Given the description of an element on the screen output the (x, y) to click on. 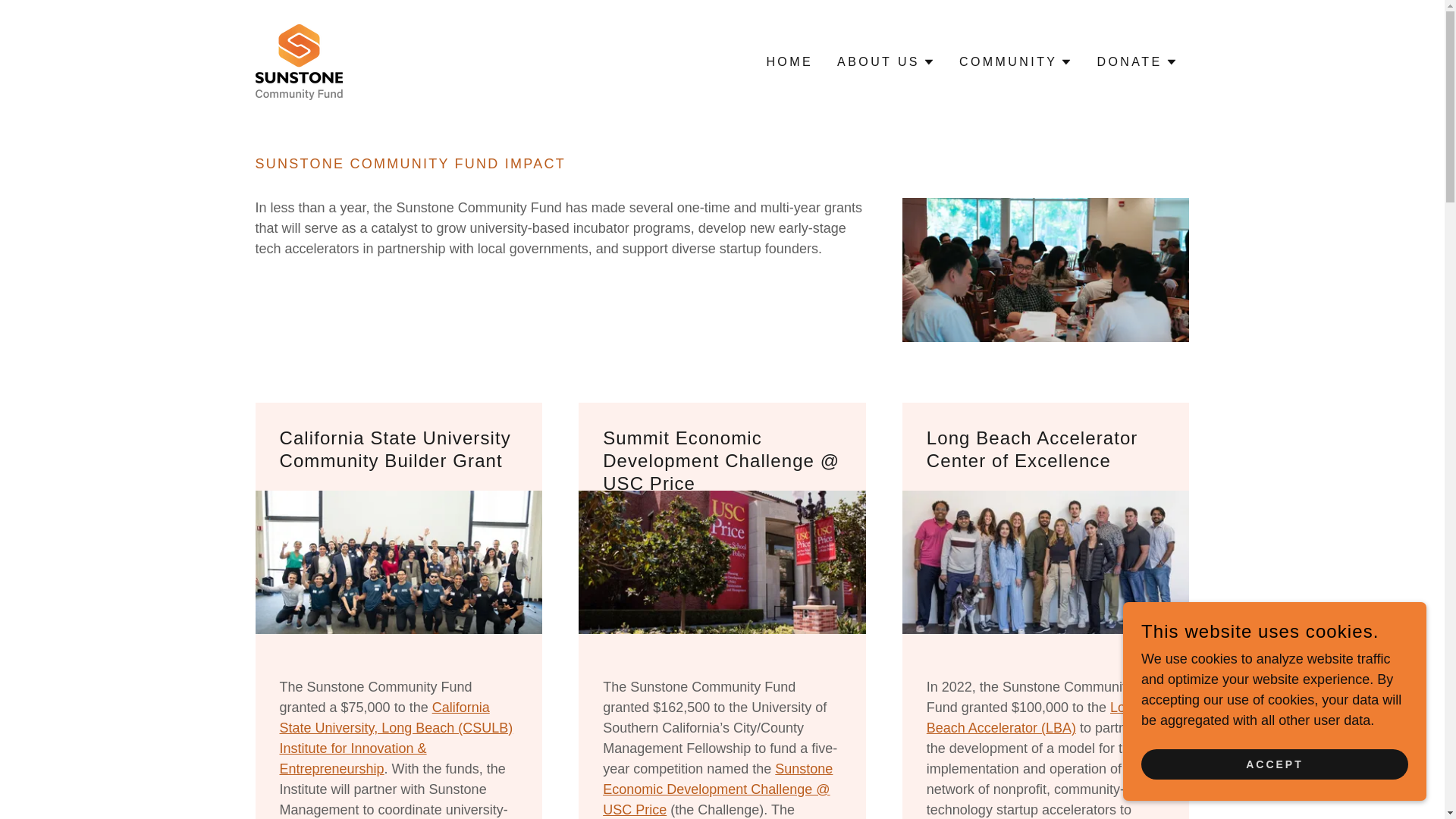
DONATE (1136, 62)
Sunstone Community Fund (298, 61)
COMMUNITY (1015, 62)
HOME (788, 62)
ABOUT US (885, 62)
